Given the description of an element on the screen output the (x, y) to click on. 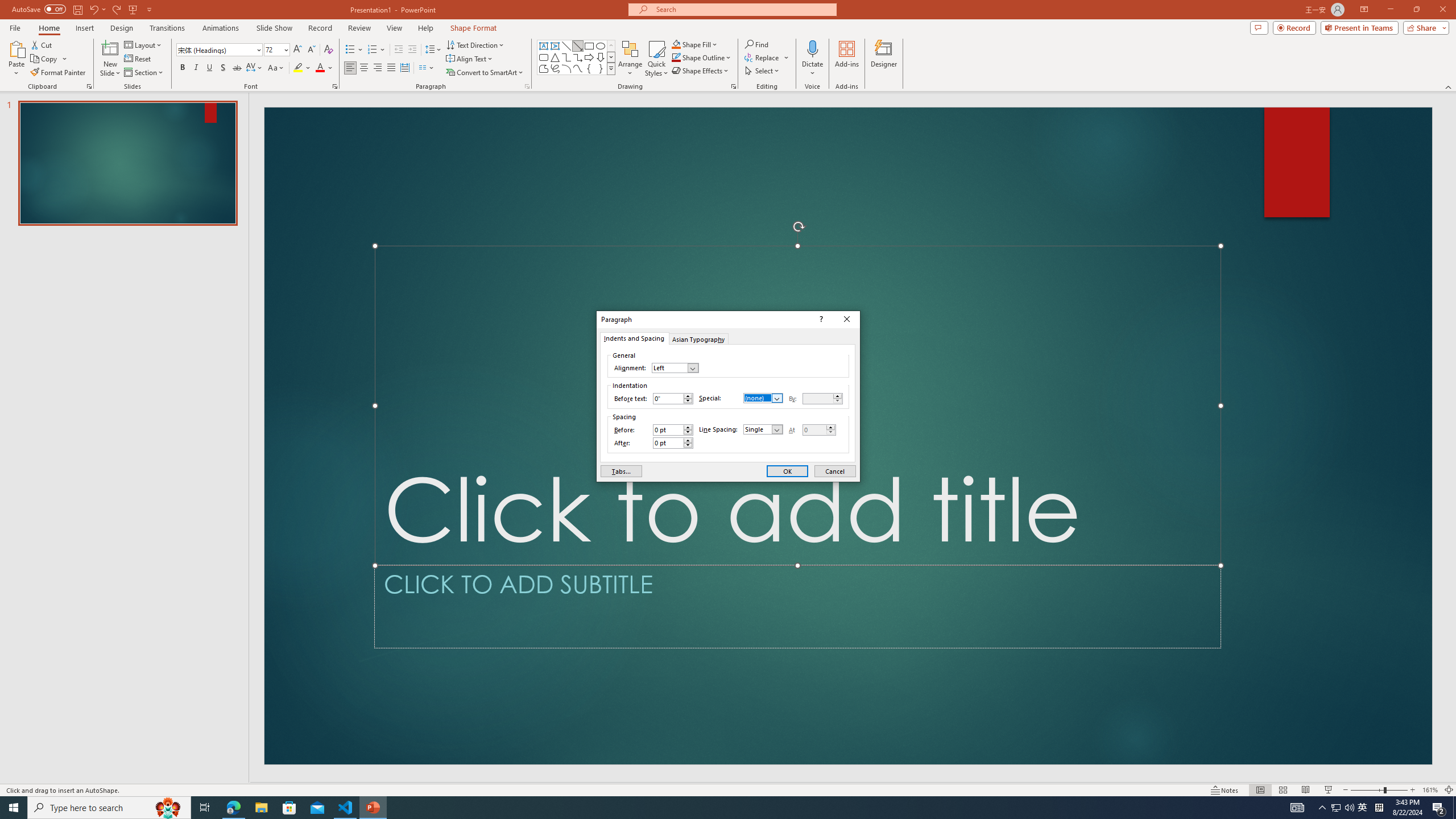
Shape Fill (694, 44)
Character Spacing (254, 67)
Decrease Font Size (1362, 807)
Paragraph... (310, 49)
Text Highlight Color Yellow (526, 85)
